Given the description of an element on the screen output the (x, y) to click on. 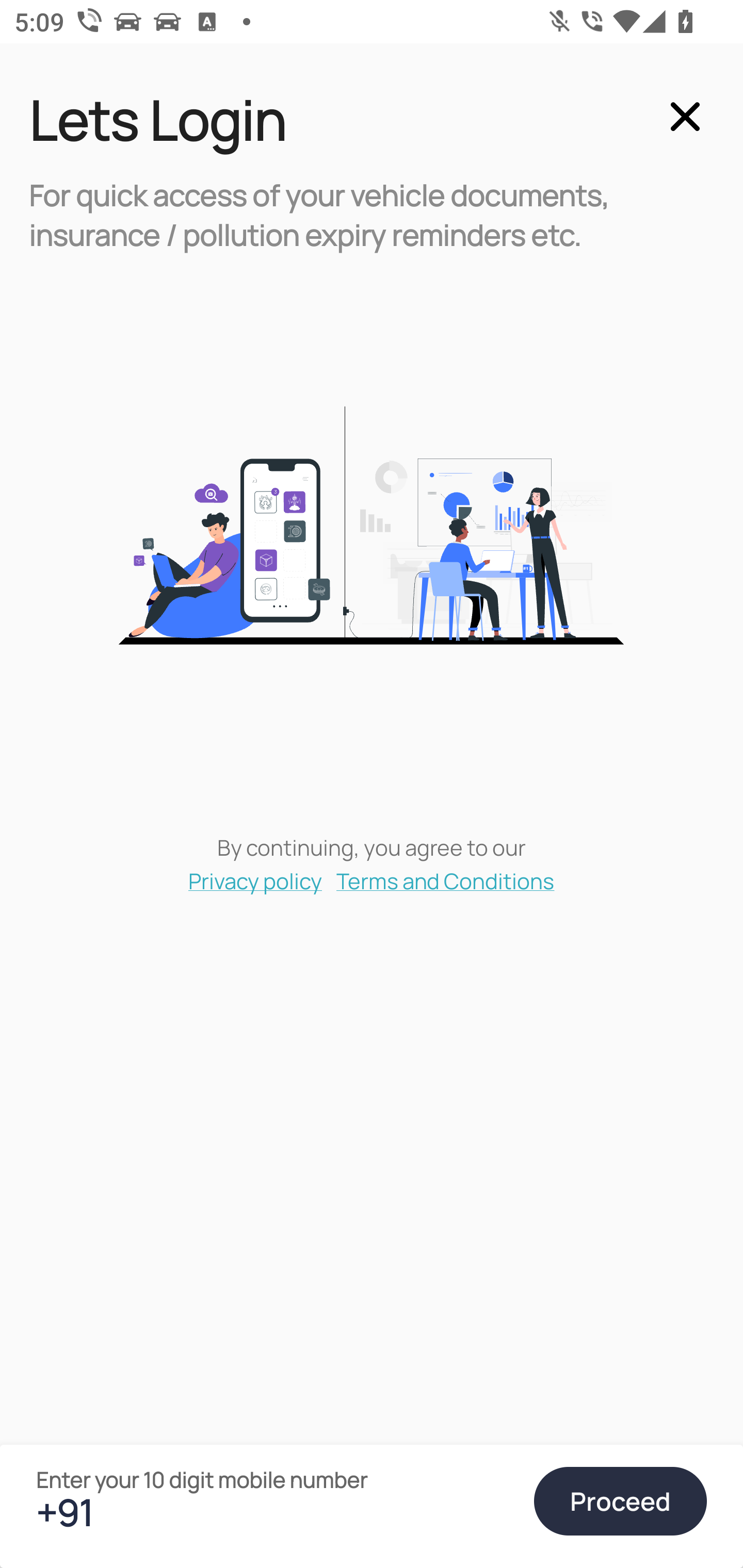
Privacy policy (254, 880)
Terms and Conditions (445, 880)
Proceed (620, 1501)
Enter your 10 digit mobile number (275, 1512)
